Given the description of an element on the screen output the (x, y) to click on. 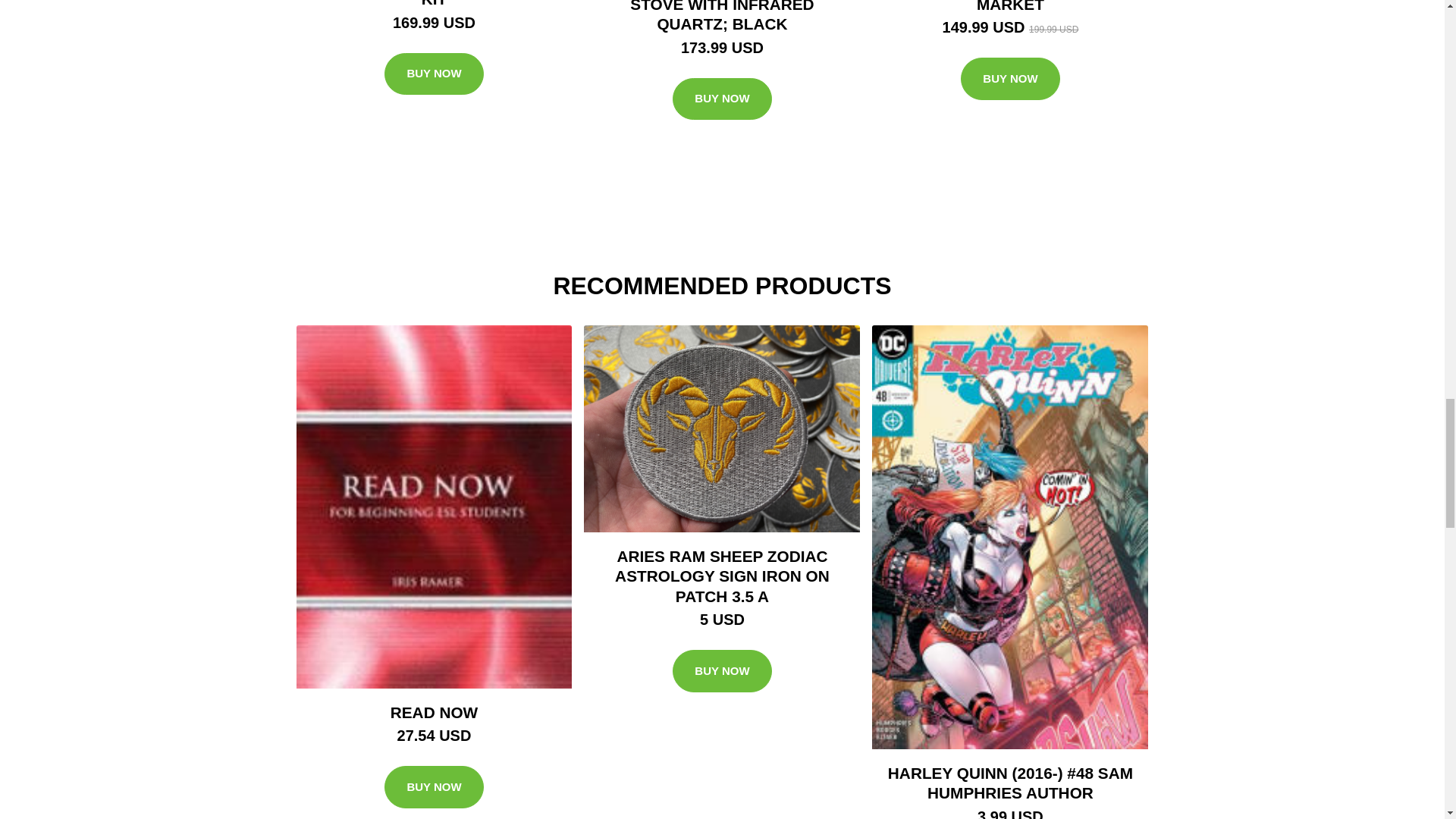
BUY NOW (433, 74)
WISE COMPANY 60 SERVING FREEZE-DRIED ENTREE MEAL KIT (434, 3)
